Given the description of an element on the screen output the (x, y) to click on. 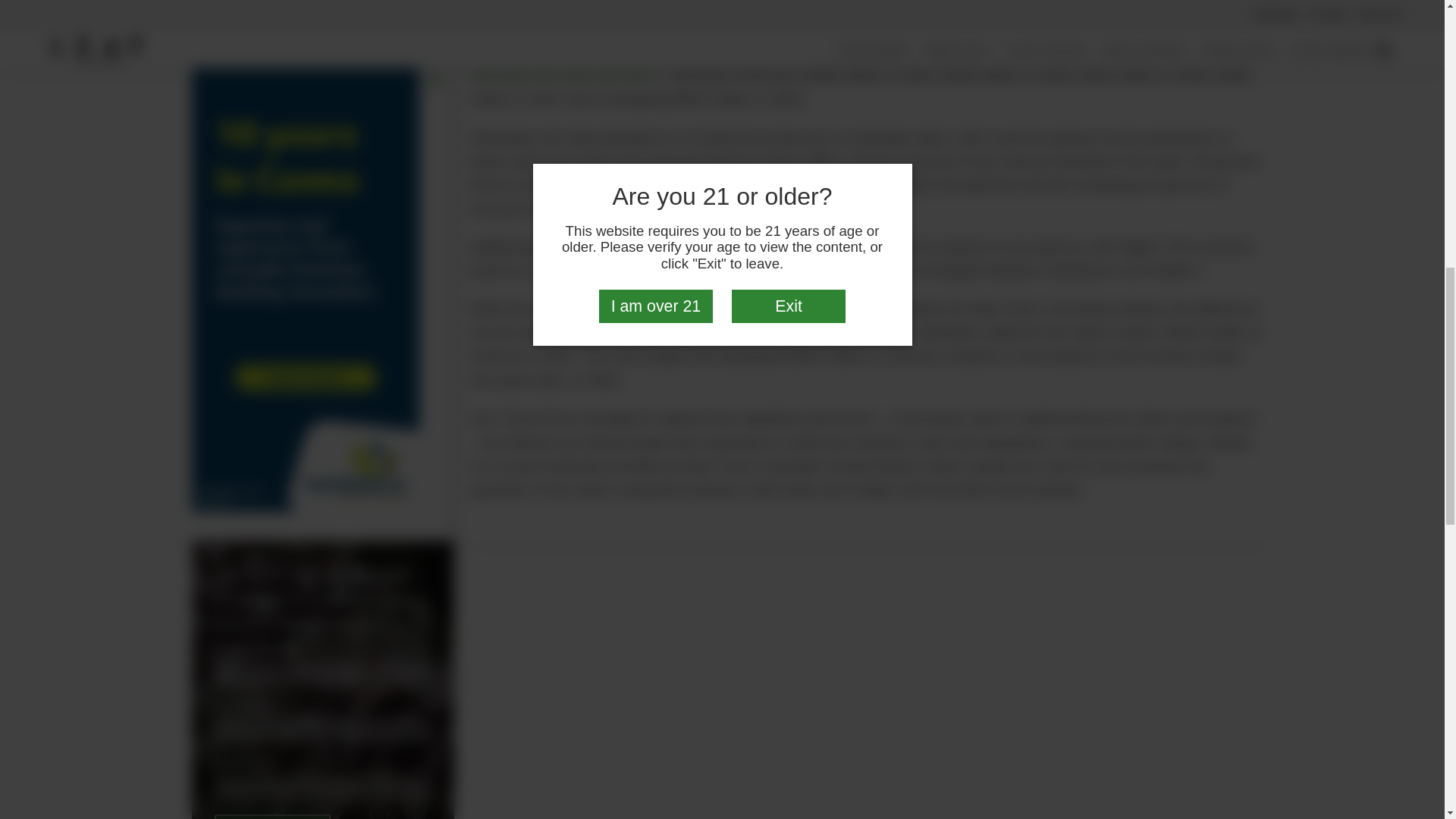
estimates the state will rake in (565, 75)
